Given the description of an element on the screen output the (x, y) to click on. 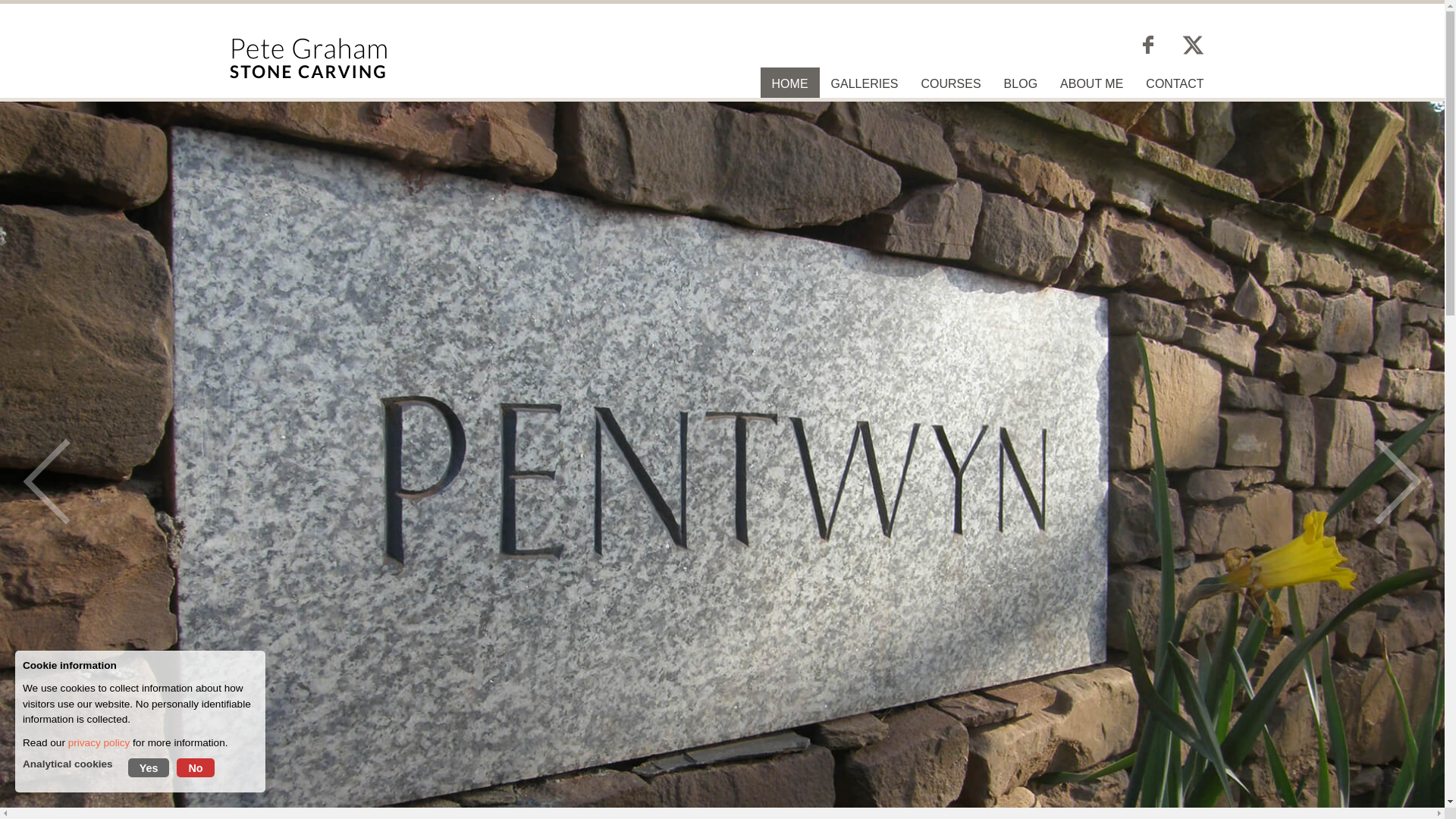
Yes (149, 767)
ABOUT ME (1091, 83)
CONTACT (1174, 83)
HOME (789, 83)
privacy policy (99, 742)
GALLERIES (864, 83)
BLOG (1020, 83)
No (195, 767)
COURSES (949, 83)
Home (789, 83)
